Given the description of an element on the screen output the (x, y) to click on. 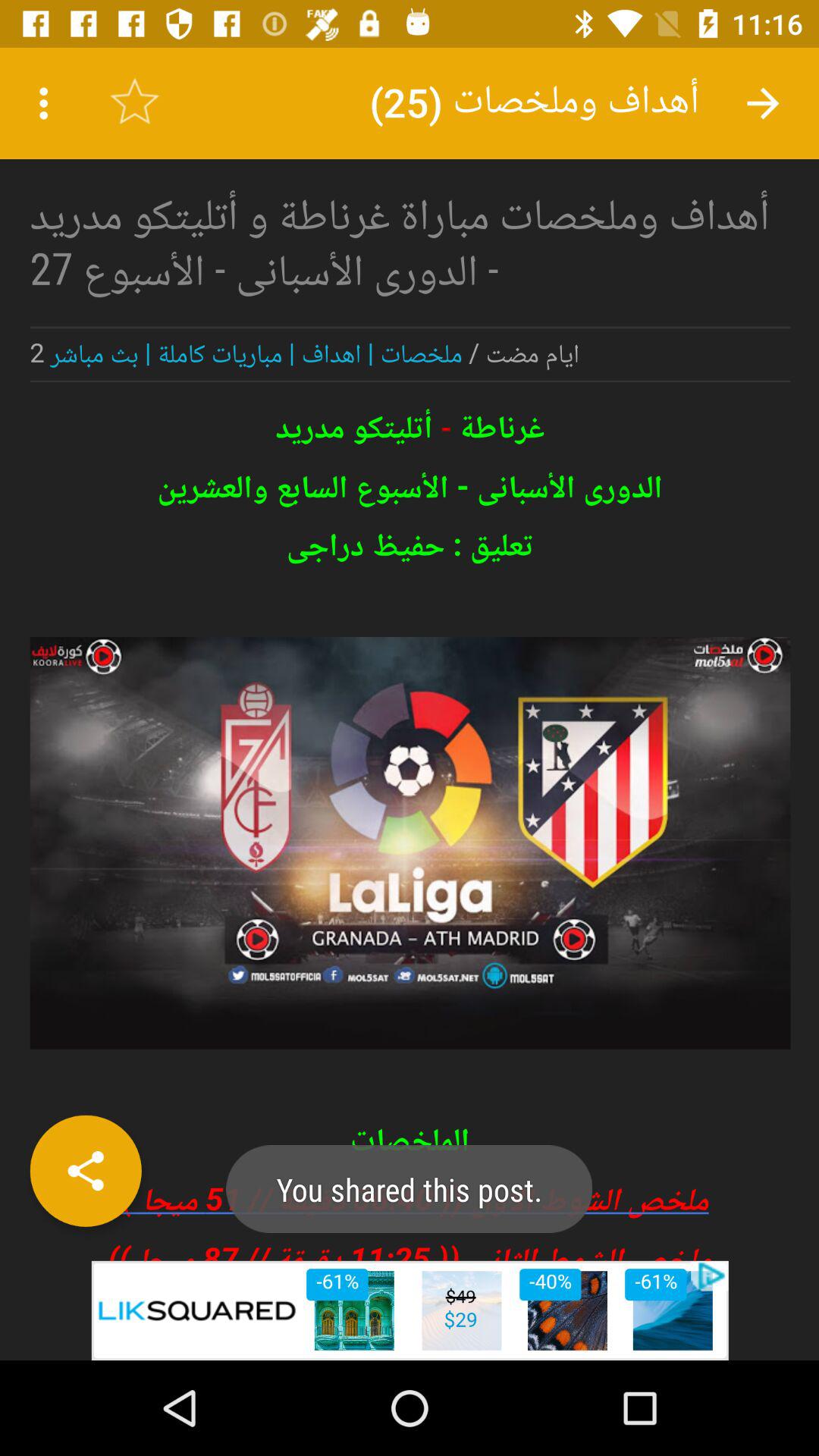
display screen (409, 653)
